Given the description of an element on the screen output the (x, y) to click on. 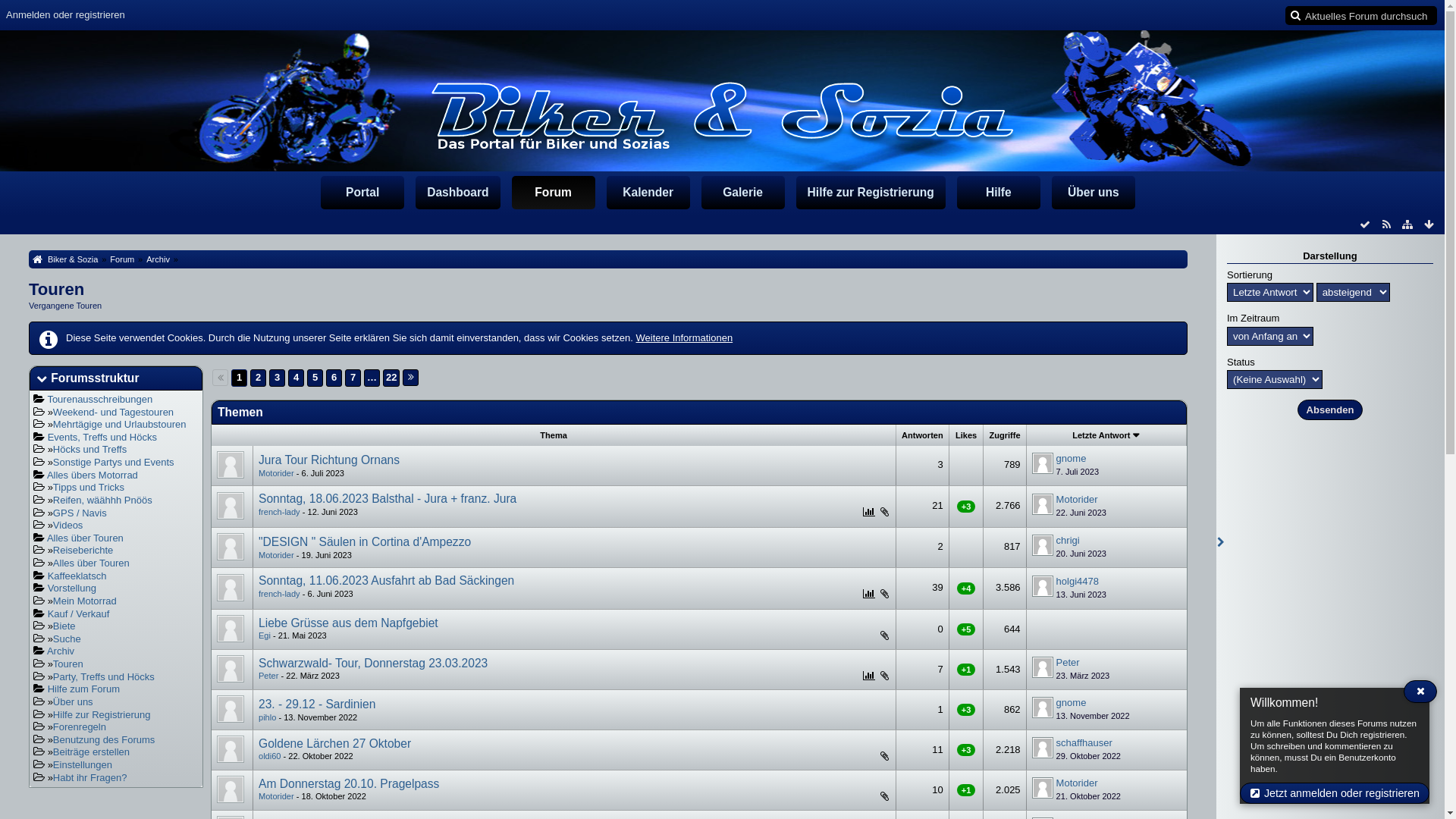
Vorstellung Element type: text (71, 587)
Touren Element type: text (68, 663)
Hilfe zur Registrierung Element type: text (101, 714)
Absenden Element type: text (1330, 409)
Peter Element type: text (1067, 662)
Forenregeln Element type: text (79, 726)
gnome Element type: text (1071, 458)
Jura Tour Richtung Ornans Element type: text (328, 459)
Motorider Element type: text (276, 554)
2 Element type: text (258, 377)
Archiv Element type: text (60, 650)
Motorider Element type: text (276, 472)
22 Element type: text (390, 377)
Egi Element type: text (264, 635)
oldi60 Element type: text (269, 755)
Anmelden oder registrieren Element type: text (65, 15)
Biker & Sozia Element type: text (63, 259)
Dashboard Element type: text (457, 192)
Benutzung des Forums Element type: text (103, 739)
Weekend- und Tagestouren Element type: text (113, 411)
Kaffeeklatsch Element type: text (76, 575)
Touren Element type: text (56, 288)
Zugriffe Element type: text (1004, 434)
6 Element type: text (333, 377)
Suche Element type: text (67, 638)
Tourenausschreibungen Element type: text (99, 398)
holgi4478 Element type: text (1077, 580)
GPS / Navis Element type: text (79, 512)
Thema Element type: text (553, 434)
Einstellungen Element type: text (82, 764)
Portal Element type: text (362, 192)
french-lady Element type: text (279, 593)
23. - 29.12 - Sardinien Element type: text (316, 703)
Habt ihr Fragen? Element type: text (90, 777)
Likes Element type: text (966, 434)
7 Element type: text (352, 377)
Weitere Informationen Element type: text (683, 337)
Kalender Element type: text (648, 192)
Antworten Element type: text (922, 434)
3 Element type: text (276, 377)
Forumsstruktur Element type: text (94, 377)
Sonstige Partys und Events Element type: text (113, 461)
Jetzt anmelden oder registrieren Element type: text (1334, 792)
schaffhauser Element type: text (1084, 742)
Hilfe zur Registrierung Element type: text (870, 192)
Mein Motorrad Element type: text (84, 600)
Tipps und Tricks Element type: text (88, 486)
Motorider Element type: text (1077, 499)
chrigi Element type: text (1067, 540)
Reiseberichte Element type: text (83, 549)
Kauf / Verkauf Element type: text (78, 613)
Forum Element type: text (553, 192)
Galerie Element type: text (742, 192)
gnome Element type: text (1071, 702)
Letzte Antwort Element type: text (1106, 434)
5 Element type: text (314, 377)
Archiv Element type: text (156, 259)
Hilfe zum Forum Element type: text (83, 688)
4 Element type: text (295, 377)
french-lady Element type: text (279, 511)
Sonntag, 18.06.2023 Balsthal - Jura + franz. Jura Element type: text (387, 498)
Am Donnerstag 20.10. Pragelpass Element type: text (348, 783)
Biete Element type: text (64, 625)
Schwarzwald- Tour, Donnerstag 23.03.2023 Element type: text (372, 662)
Forum Element type: text (120, 259)
Peter Element type: text (268, 675)
Motorider Element type: text (276, 795)
Hilfe Element type: text (998, 192)
Videos Element type: text (68, 524)
Motorider Element type: text (1077, 782)
pihlo Element type: text (267, 716)
